Given the description of an element on the screen output the (x, y) to click on. 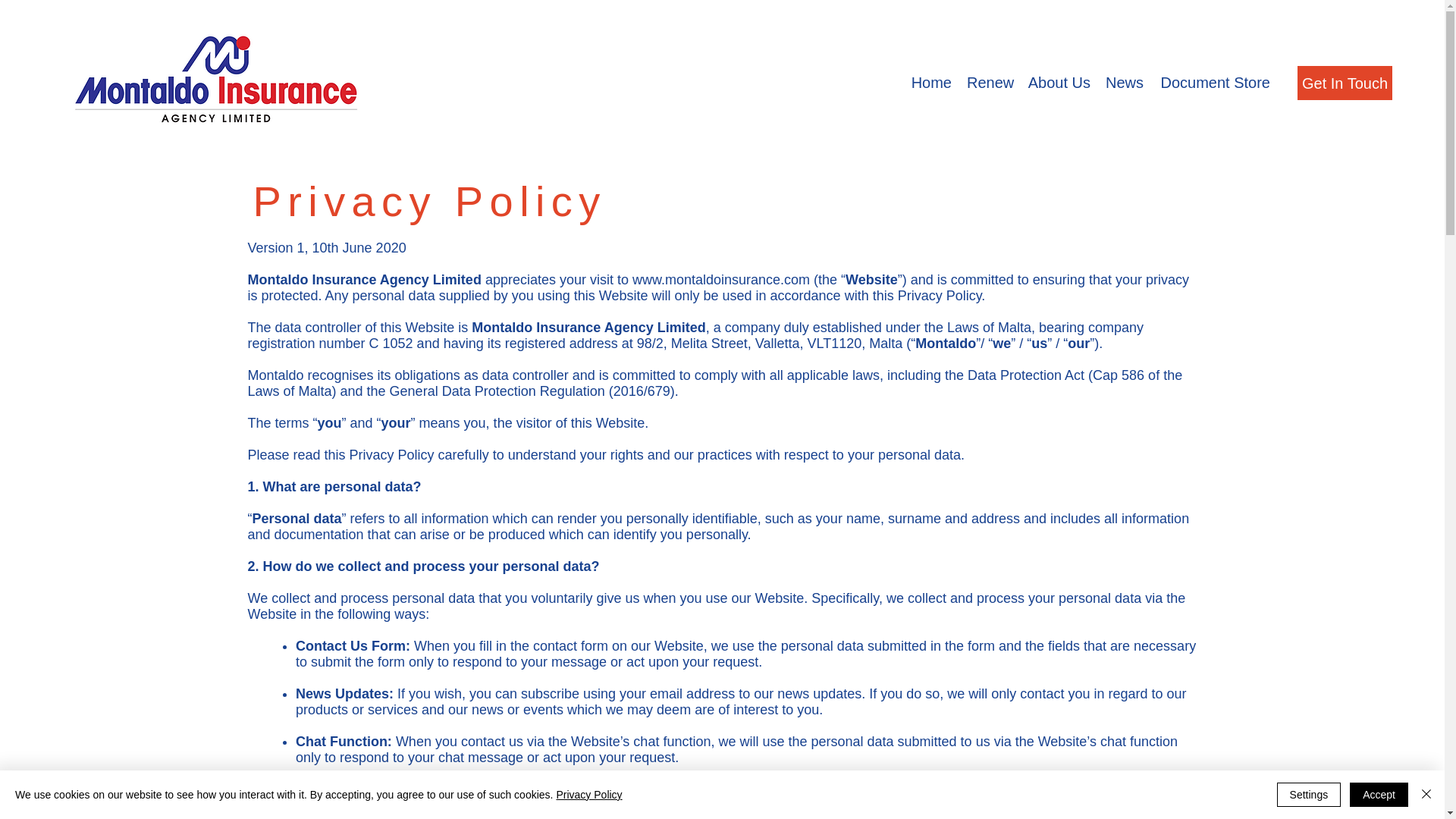
News (1124, 82)
Renew (989, 82)
Document Store (1214, 82)
Accept (1378, 794)
Privacy Policy (588, 794)
www.montaldoinsurance.com (720, 279)
Home (930, 82)
Settings (1308, 794)
Get In Touch (1344, 82)
About Us (1058, 82)
